Given the description of an element on the screen output the (x, y) to click on. 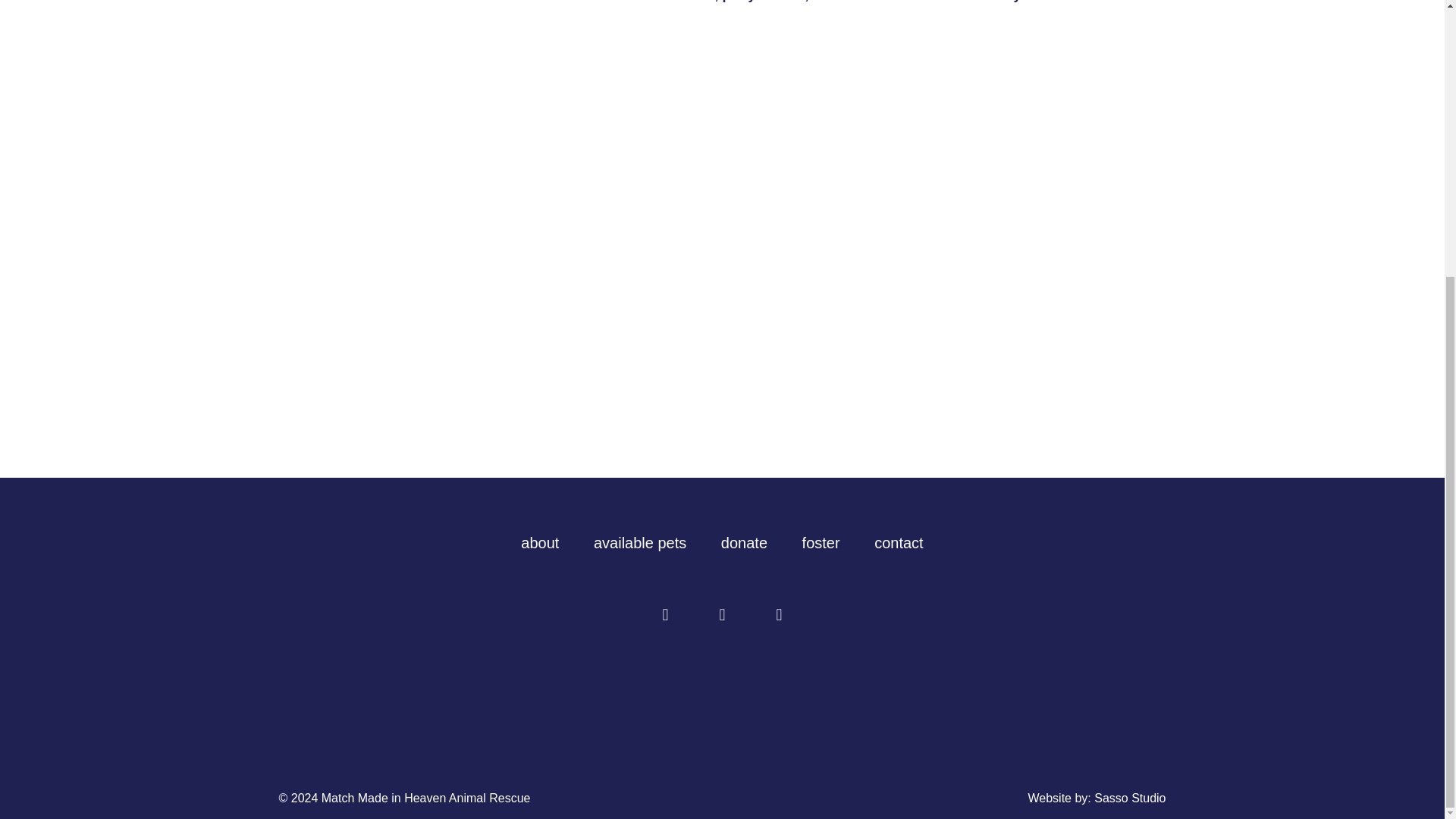
about (540, 542)
foster (821, 542)
available pets (639, 542)
donate (743, 542)
